Given the description of an element on the screen output the (x, y) to click on. 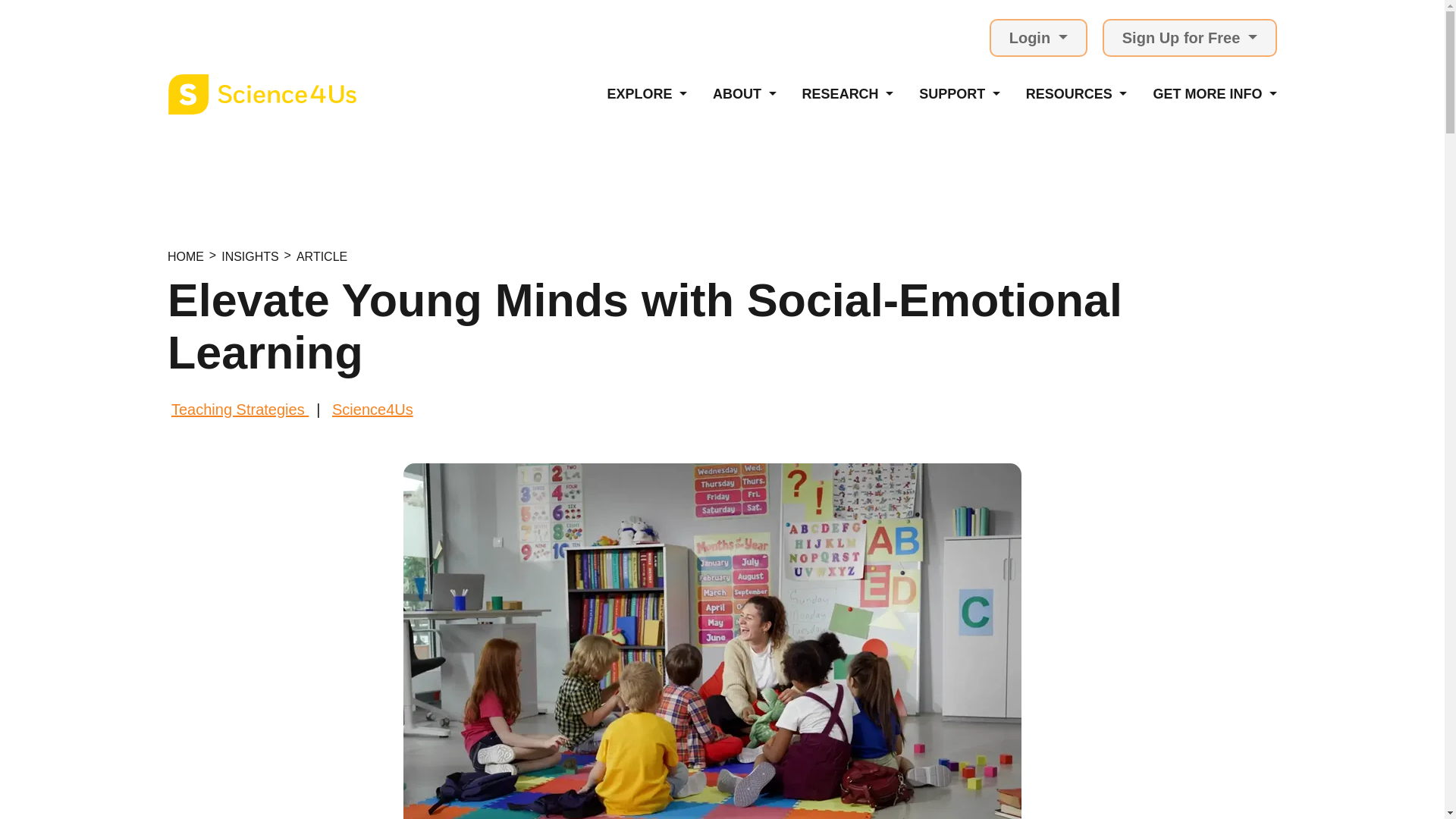
SUPPORT (959, 93)
RESEARCH (847, 93)
Login (1038, 37)
EXPLORE (647, 93)
Science4Us home page (261, 93)
Sign Up for Free (1189, 37)
GET MORE INFO (1214, 93)
RESOURCES (1076, 93)
ABOUT (744, 93)
